Given the description of an element on the screen output the (x, y) to click on. 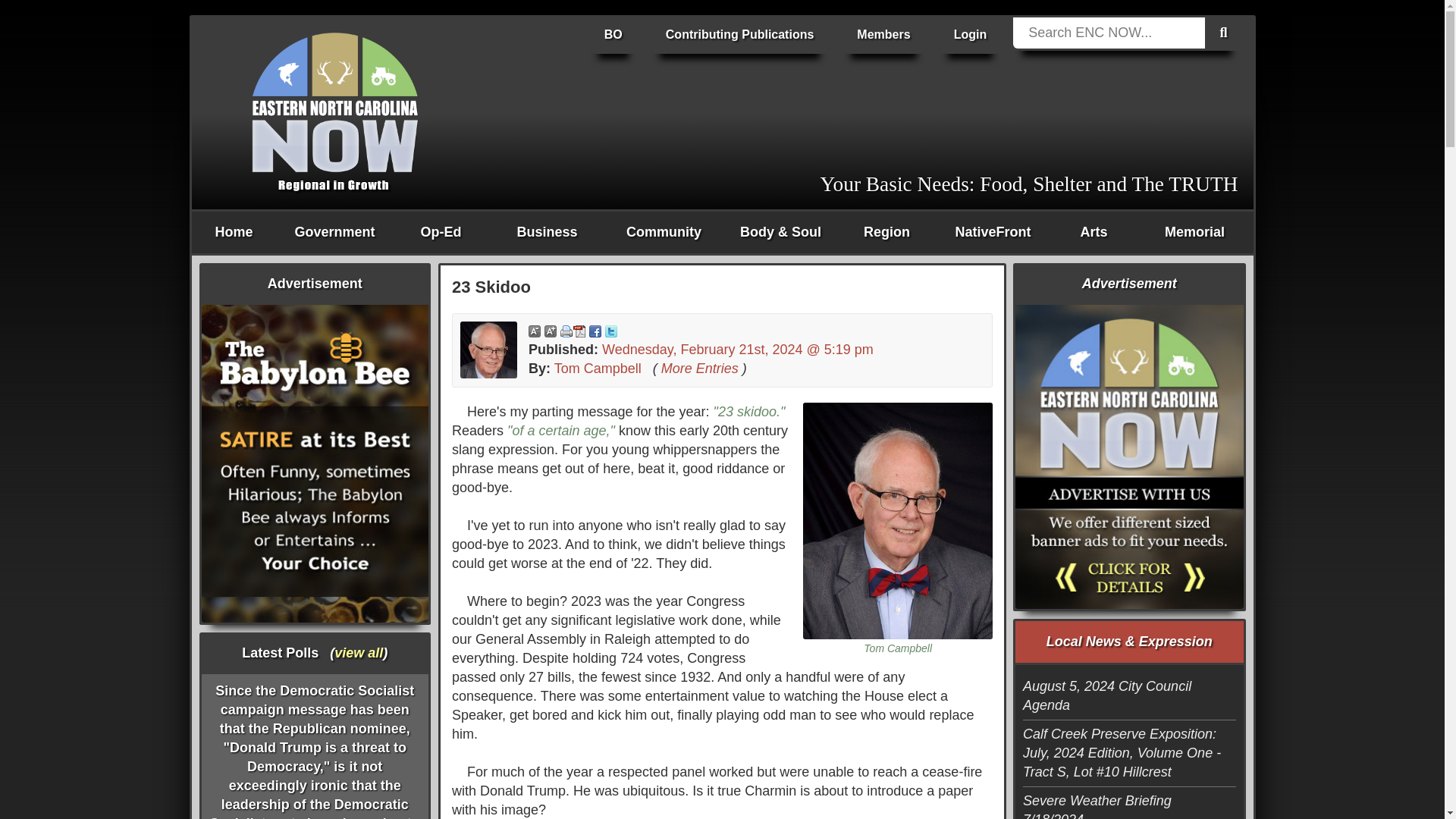
Contributing Publications (739, 34)
Government (334, 232)
Members (883, 34)
Beaufort Observer (613, 34)
Print or Download PDF (572, 330)
Home (233, 232)
Decrease Text Size (534, 331)
BO (613, 34)
Login (970, 34)
Welcome to Eastern North Carolina NOW (335, 101)
Increase Text Size (550, 331)
